Given the description of an element on the screen output the (x, y) to click on. 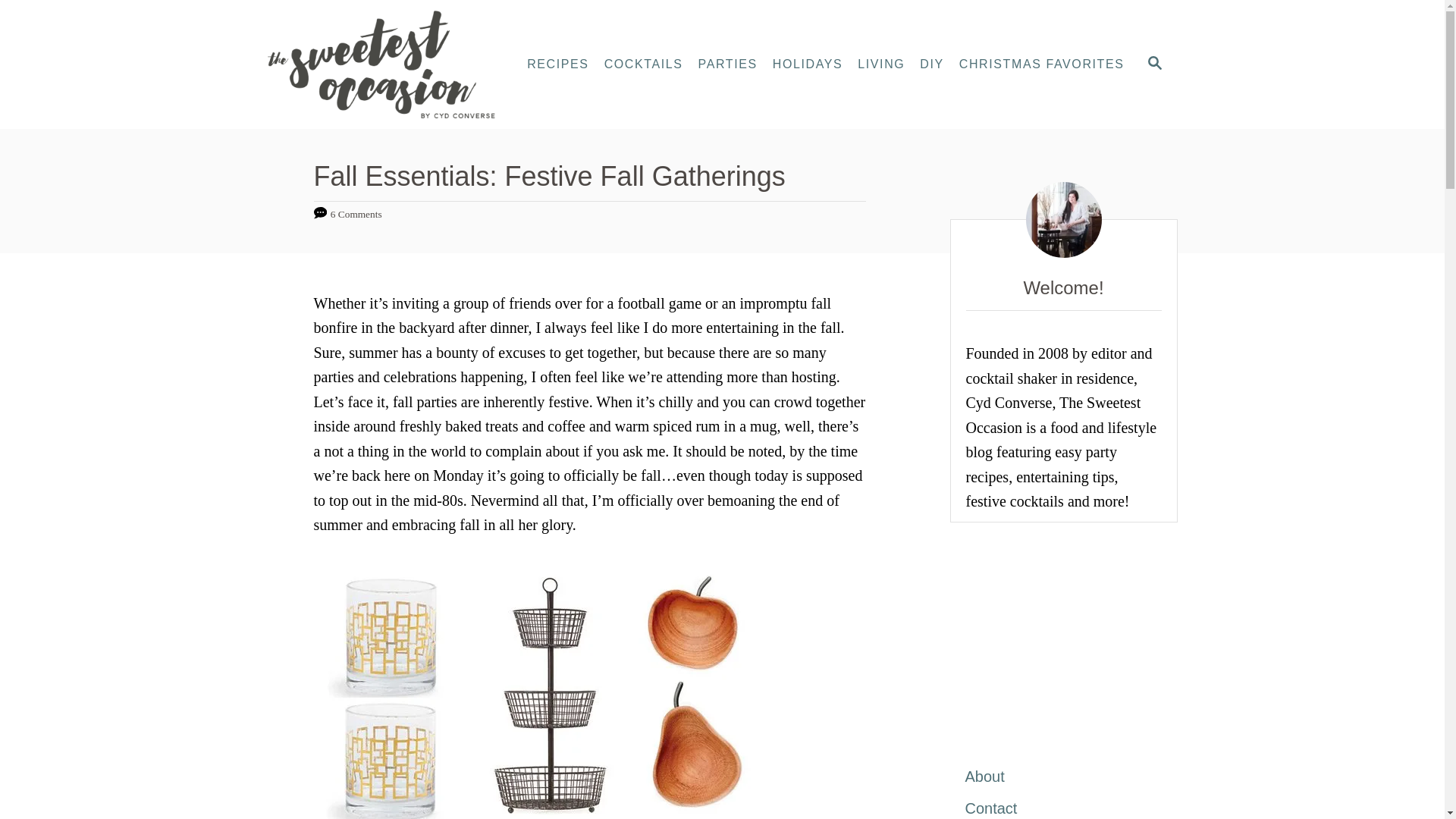
SEARCH (1153, 63)
RECIPES (557, 64)
COCKTAILS (643, 64)
The Sweetest Occasion (386, 64)
PARTIES (727, 64)
